Given the description of an element on the screen output the (x, y) to click on. 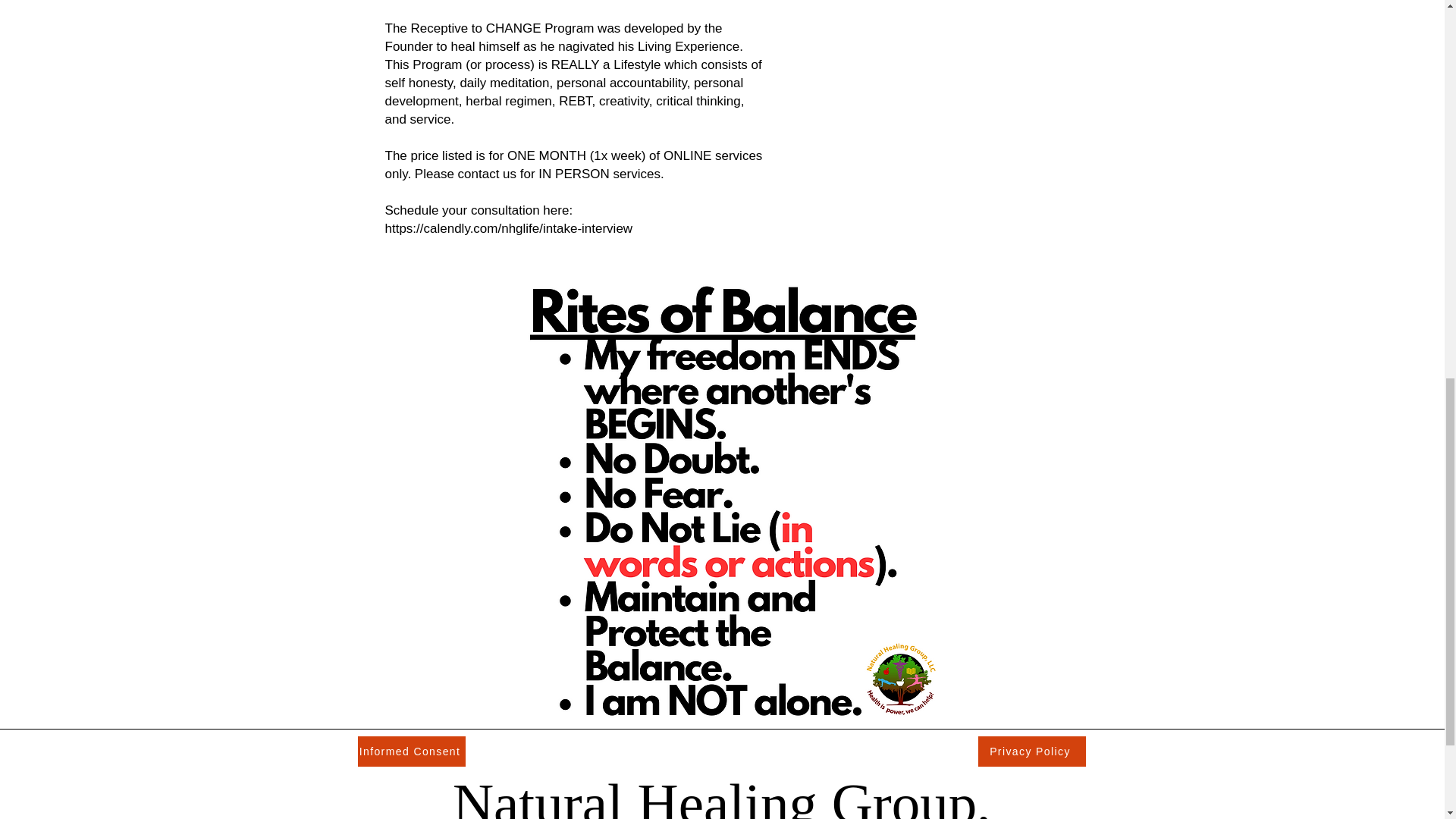
Privacy Policy (1032, 751)
Natural Healing Group, LLC (721, 795)
Informed Consent (411, 751)
